Given the description of an element on the screen output the (x, y) to click on. 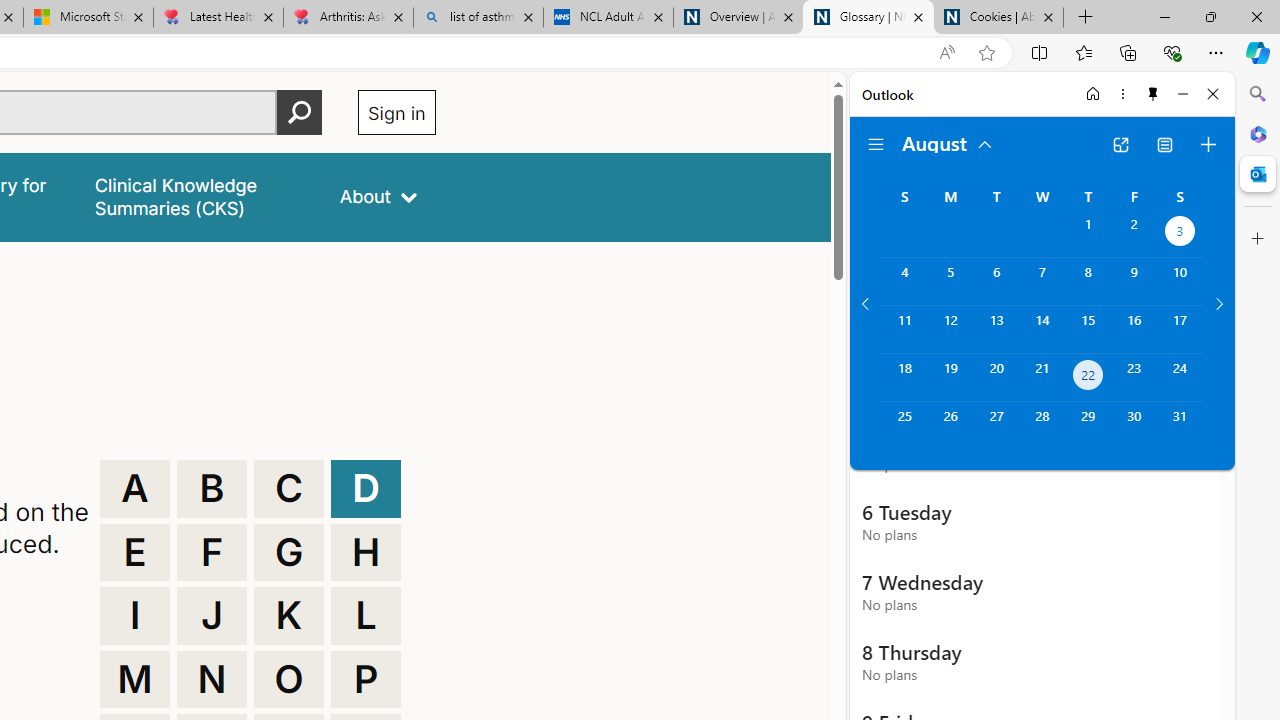
Wednesday, August 21, 2024.  (1042, 377)
P (365, 679)
Perform search (299, 112)
Monday, August 5, 2024.  (950, 281)
Thursday, August 15, 2024.  (1088, 329)
Thursday, August 22, 2024. Today.  (1088, 377)
Wednesday, August 14, 2024.  (1042, 329)
Unpin side pane (1153, 93)
Close (1213, 93)
Sunday, August 25, 2024.  (904, 425)
Open in new tab (1120, 144)
J (212, 615)
Browser essentials (1171, 52)
B (212, 488)
